Given the description of an element on the screen output the (x, y) to click on. 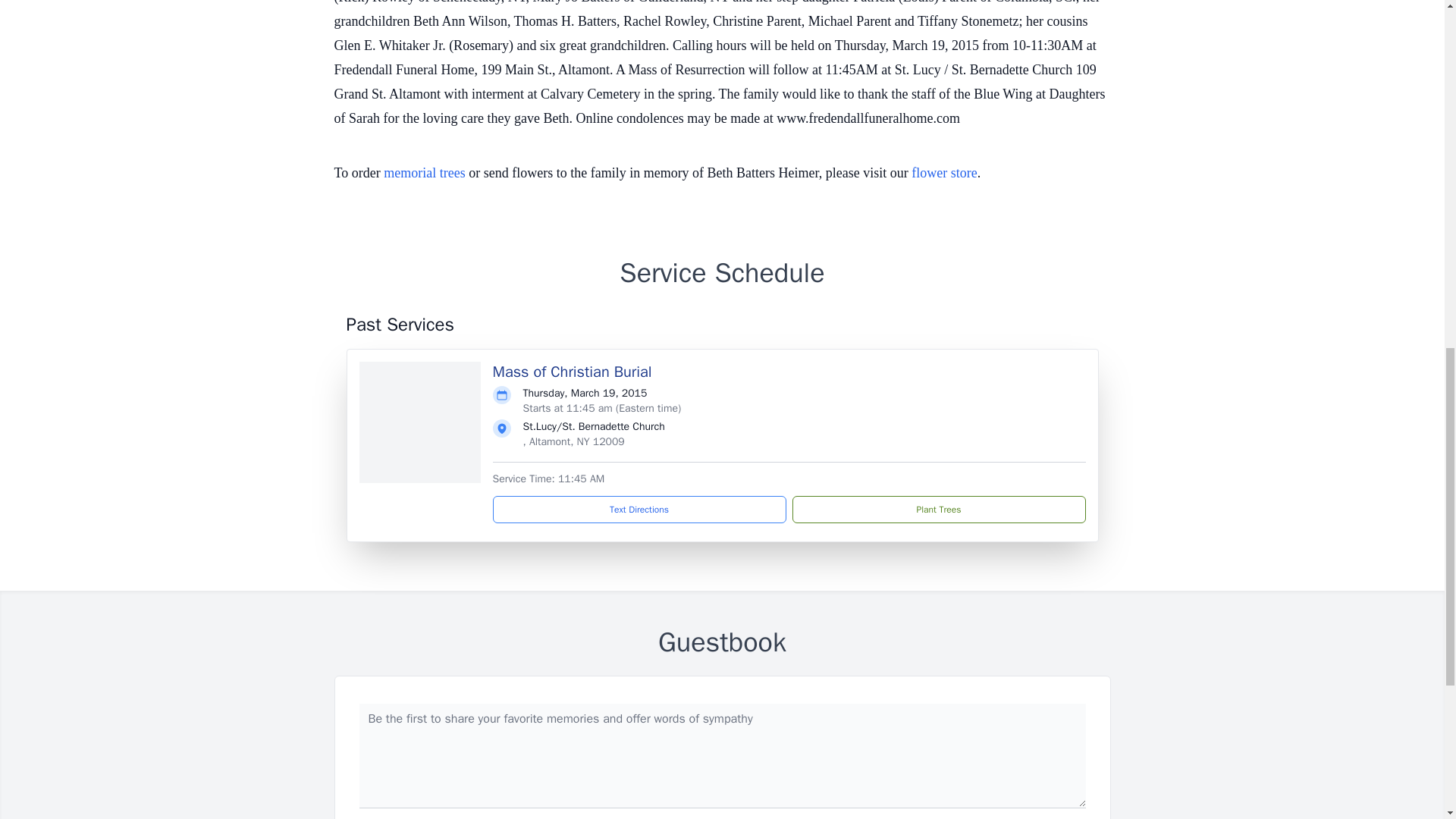
Plant Trees (938, 509)
Text Directions (639, 509)
, Altamont, NY 12009 (573, 440)
memorial trees (424, 172)
flower store (943, 172)
